Given the description of an element on the screen output the (x, y) to click on. 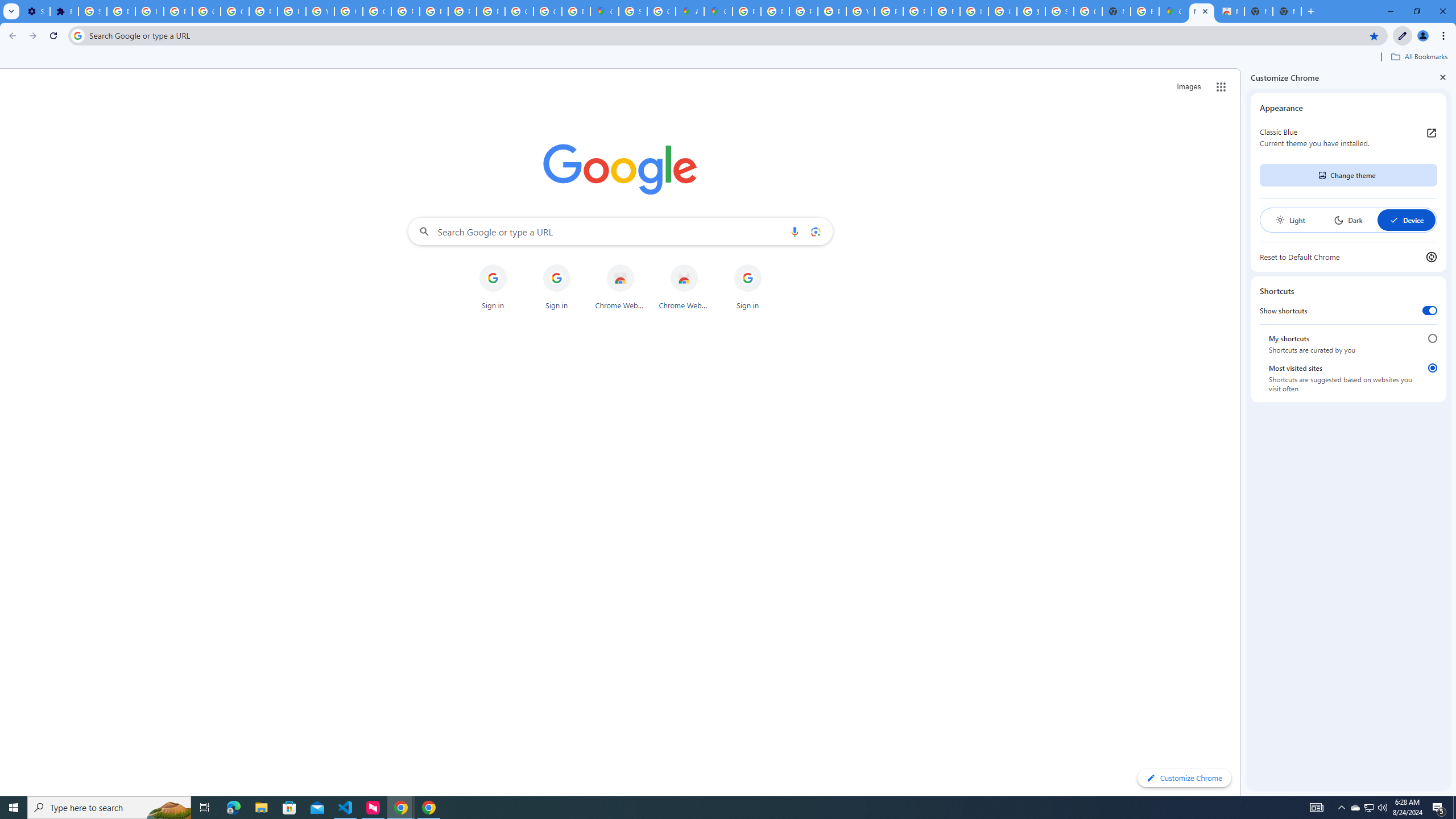
Google Account Help (206, 11)
Google Maps (718, 11)
Delete photos & videos - Computer - Google Photos Help (120, 11)
Change theme (1348, 174)
Privacy Help Center - Policies Help (803, 11)
Sign in - Google Accounts (1058, 11)
Device (1406, 219)
Light (1289, 219)
Search by image (816, 230)
Side Panel Resize Handle (1242, 431)
